Given the description of an element on the screen output the (x, y) to click on. 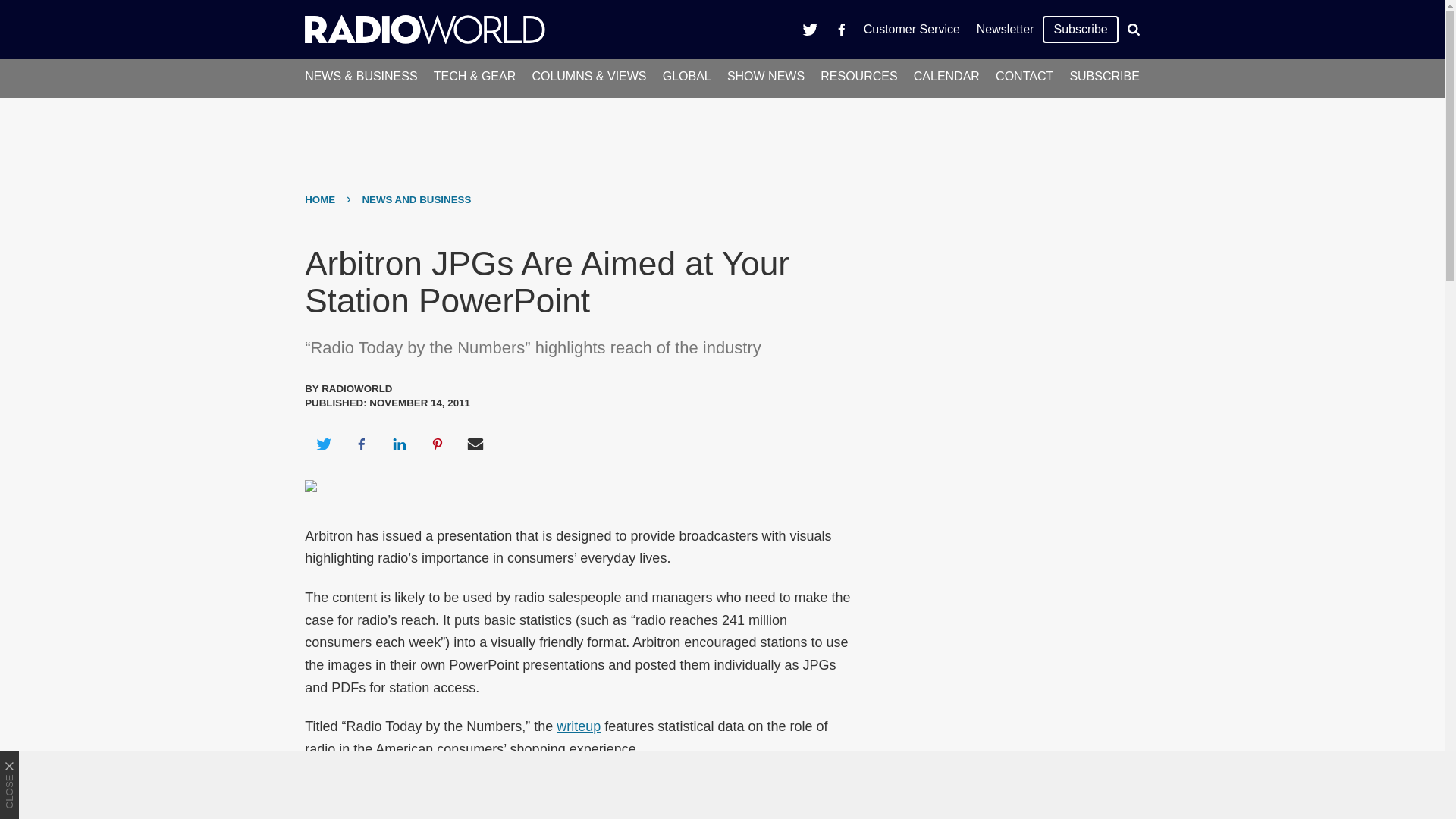
Share on Pinterest (438, 444)
Share via Email (476, 444)
Share on LinkedIn (399, 444)
Customer Service (912, 29)
Share on Facebook (361, 444)
Share on Twitter (323, 444)
